Given the description of an element on the screen output the (x, y) to click on. 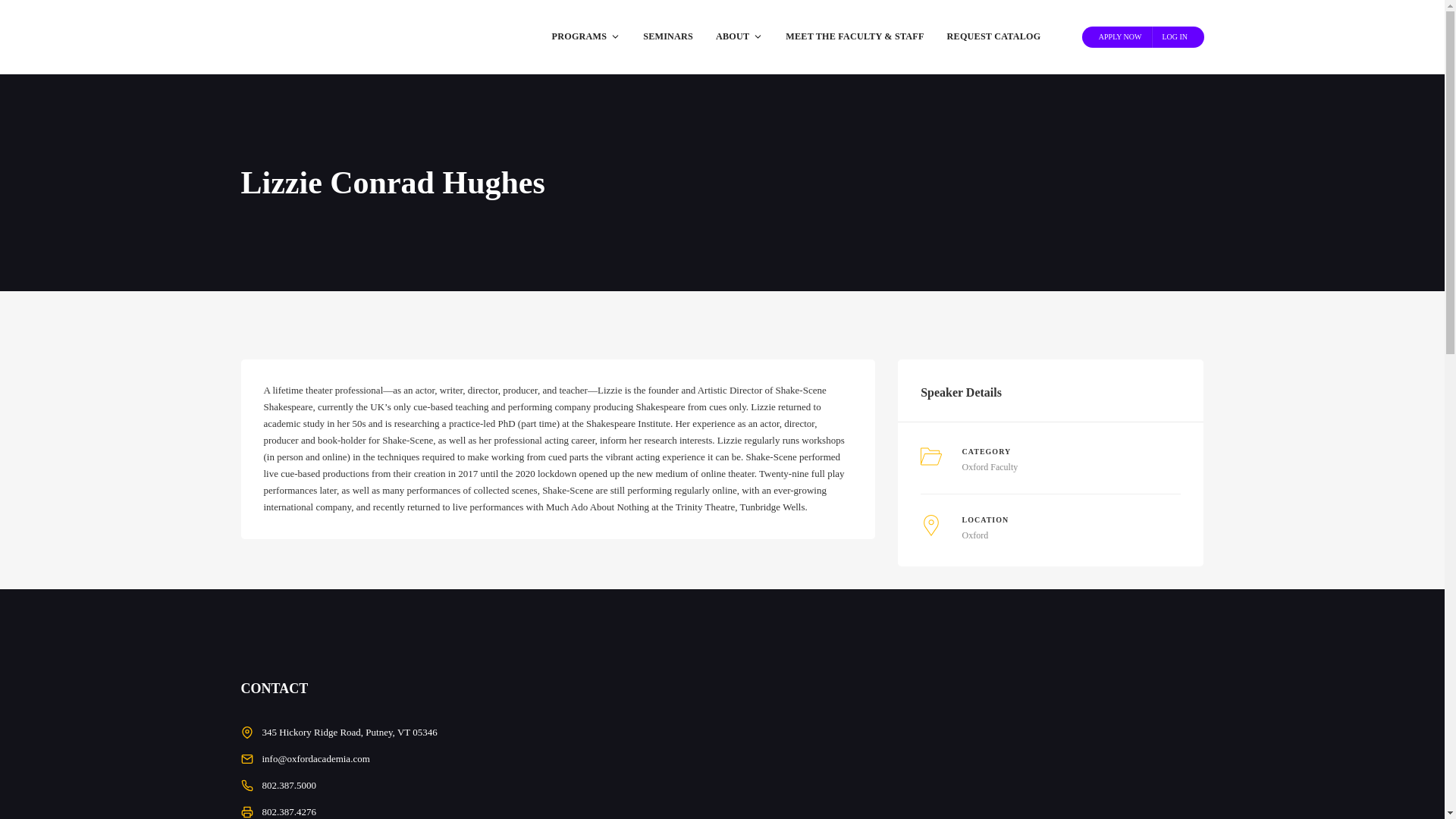
ABOUT (739, 36)
SEMINARS (667, 36)
REQUEST CATALOG (994, 36)
APPLY NOW (1120, 36)
PROGRAMS (585, 36)
